Given the description of an element on the screen output the (x, y) to click on. 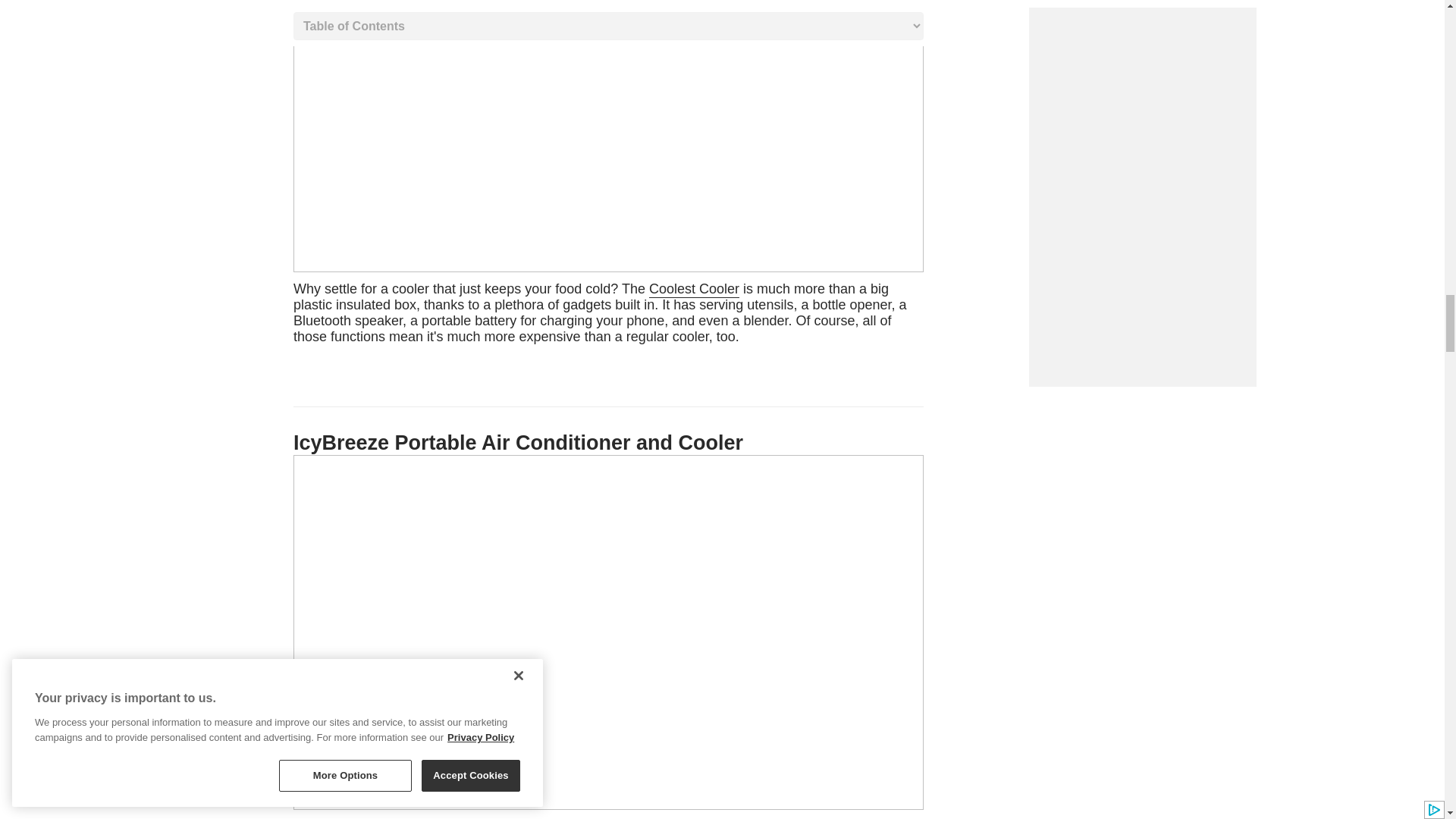
Buy It Now (600, 311)
